Given the description of an element on the screen output the (x, y) to click on. 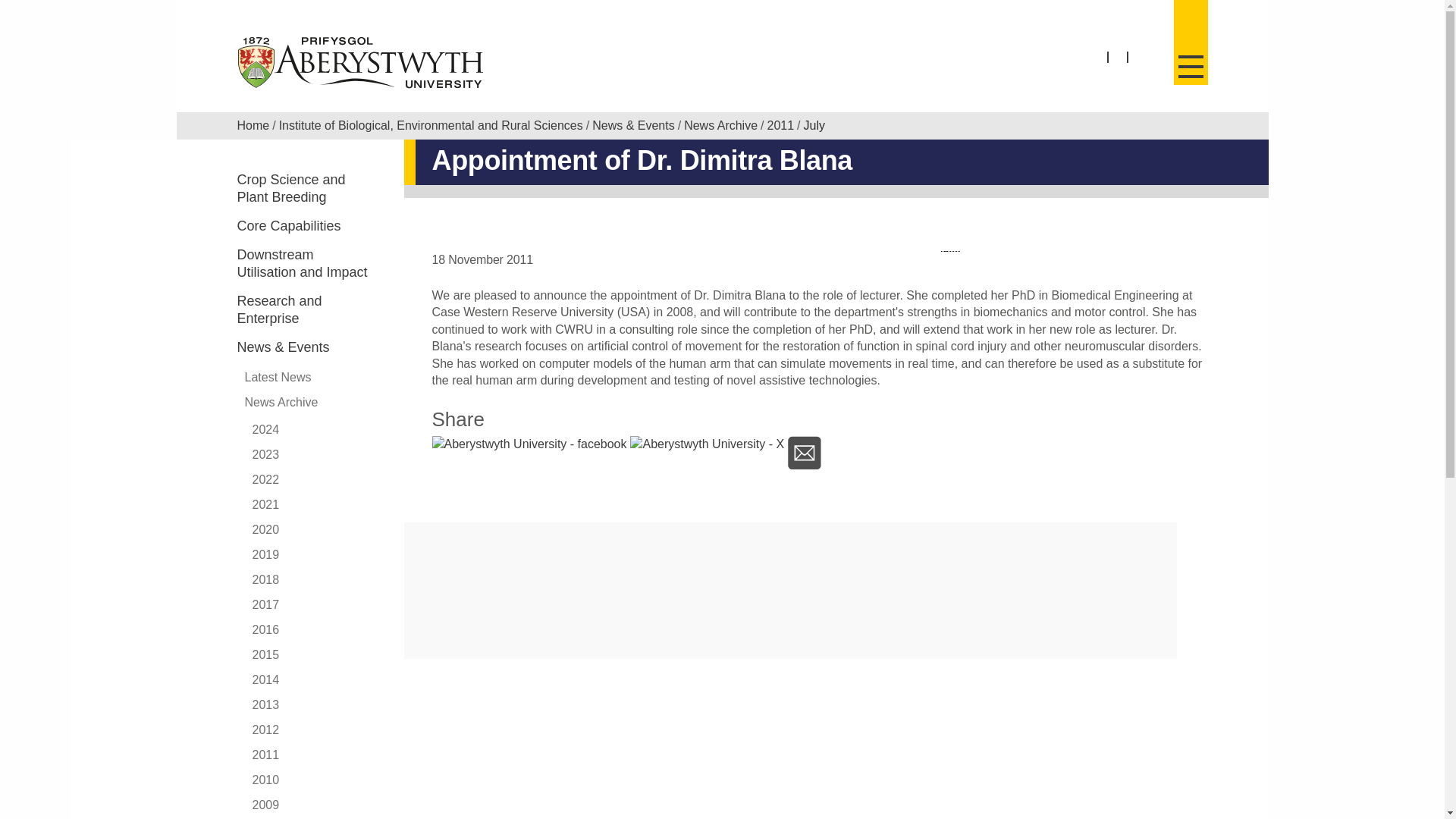
Aberystwyth University homepage (360, 62)
Search (1147, 66)
Newid iaith i Gymraeg (1117, 57)
